Given the description of an element on the screen output the (x, y) to click on. 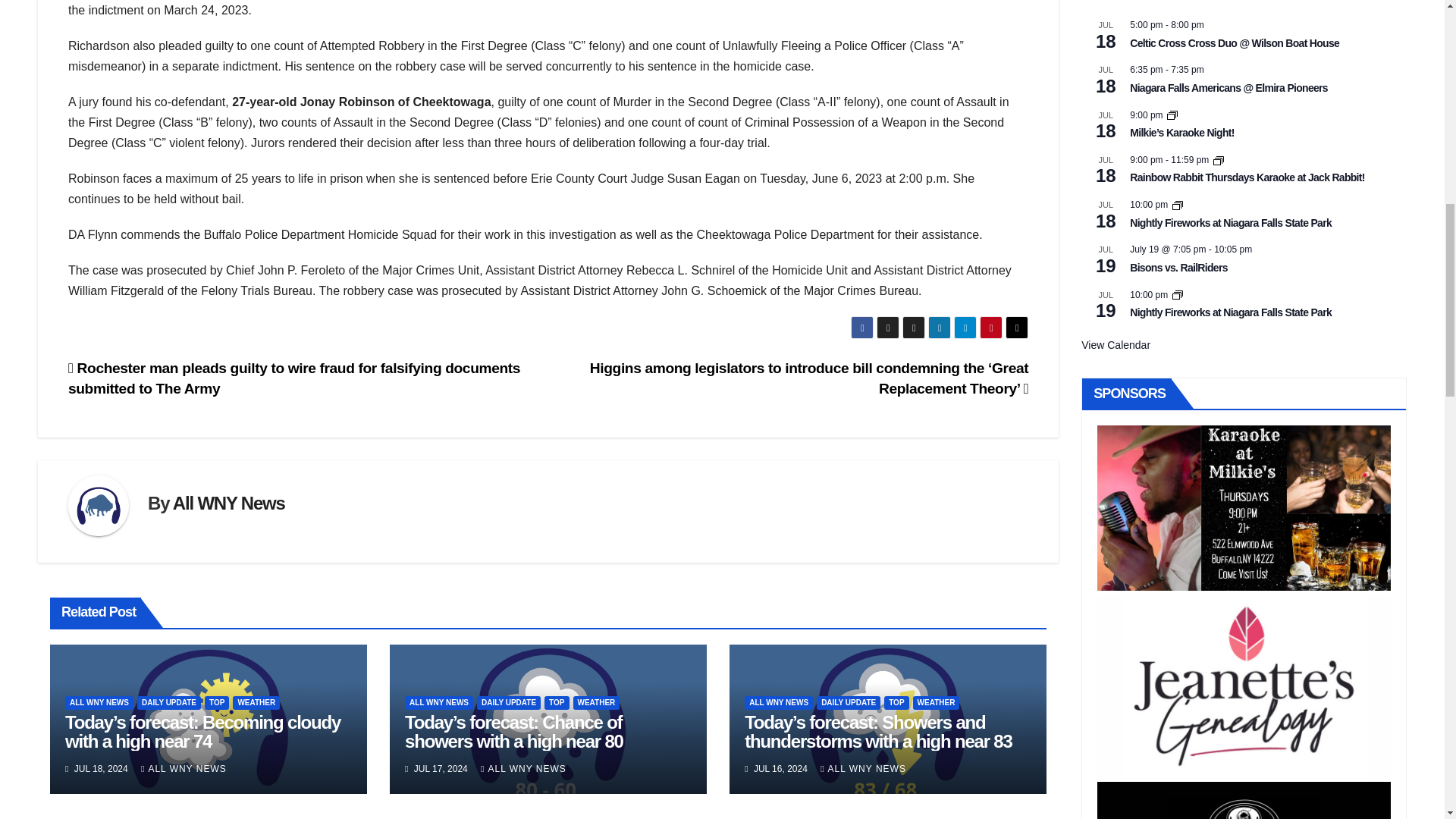
Event Series (1172, 114)
Event Series (1177, 294)
Event Series (1218, 160)
Event Series (1177, 204)
